Given the description of an element on the screen output the (x, y) to click on. 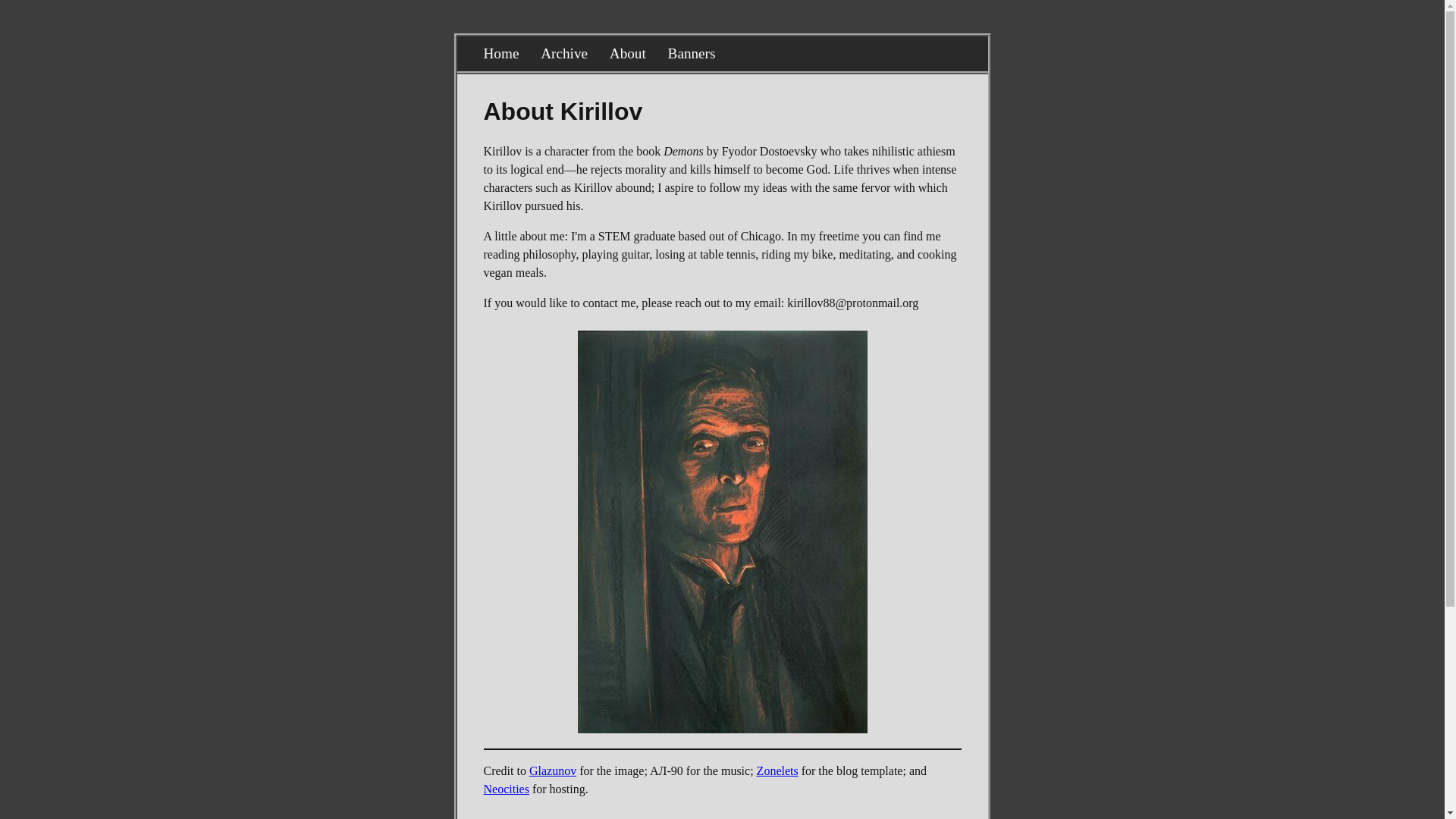
About (628, 53)
Neocities (506, 788)
Glazunov (552, 770)
Zonelets (777, 770)
Archive (564, 53)
Home (501, 53)
Banners (692, 53)
